Given the description of an element on the screen output the (x, y) to click on. 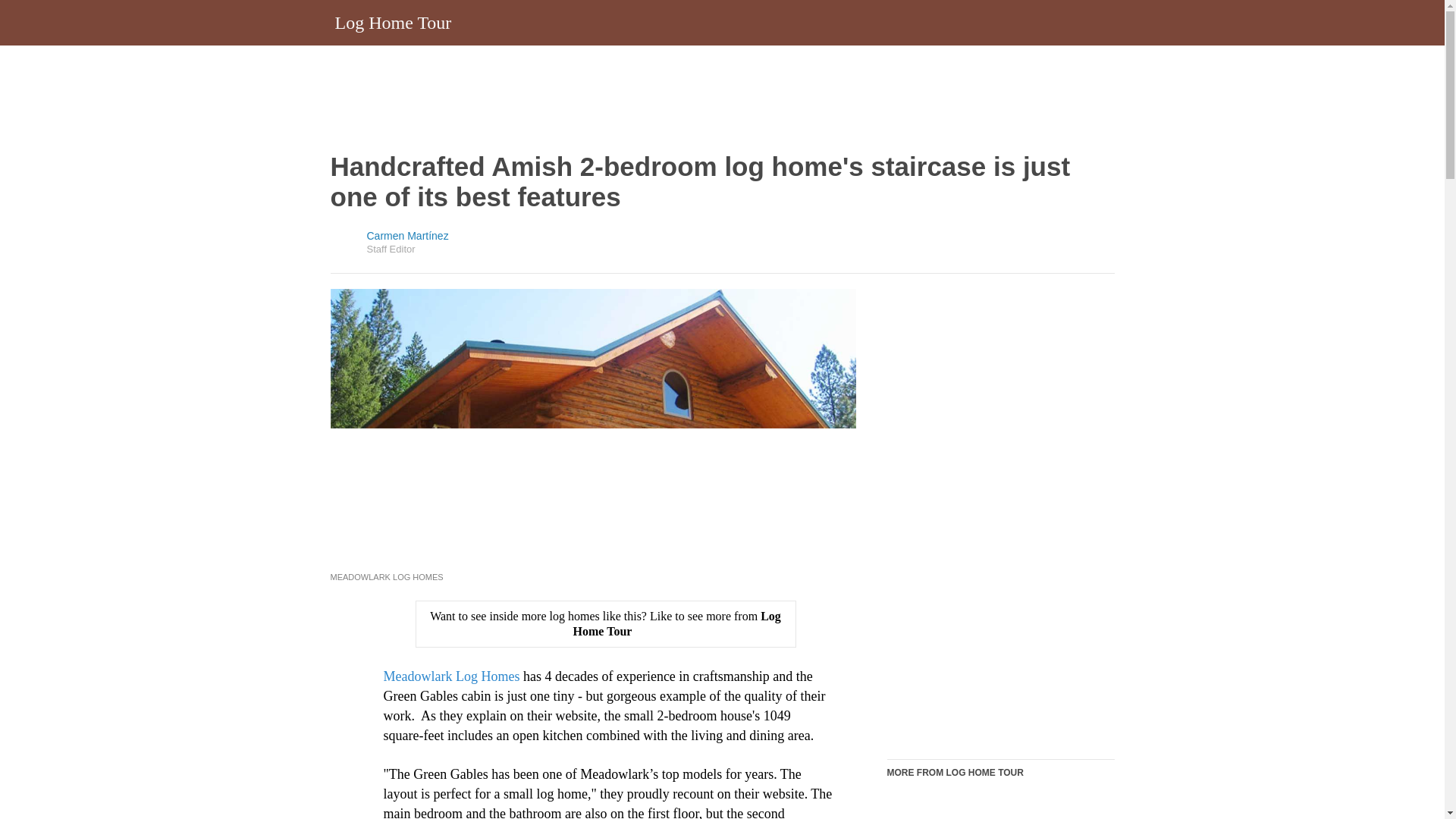
Log Home Tour (392, 21)
Meadowlark Log Homes (451, 676)
